Given the description of an element on the screen output the (x, y) to click on. 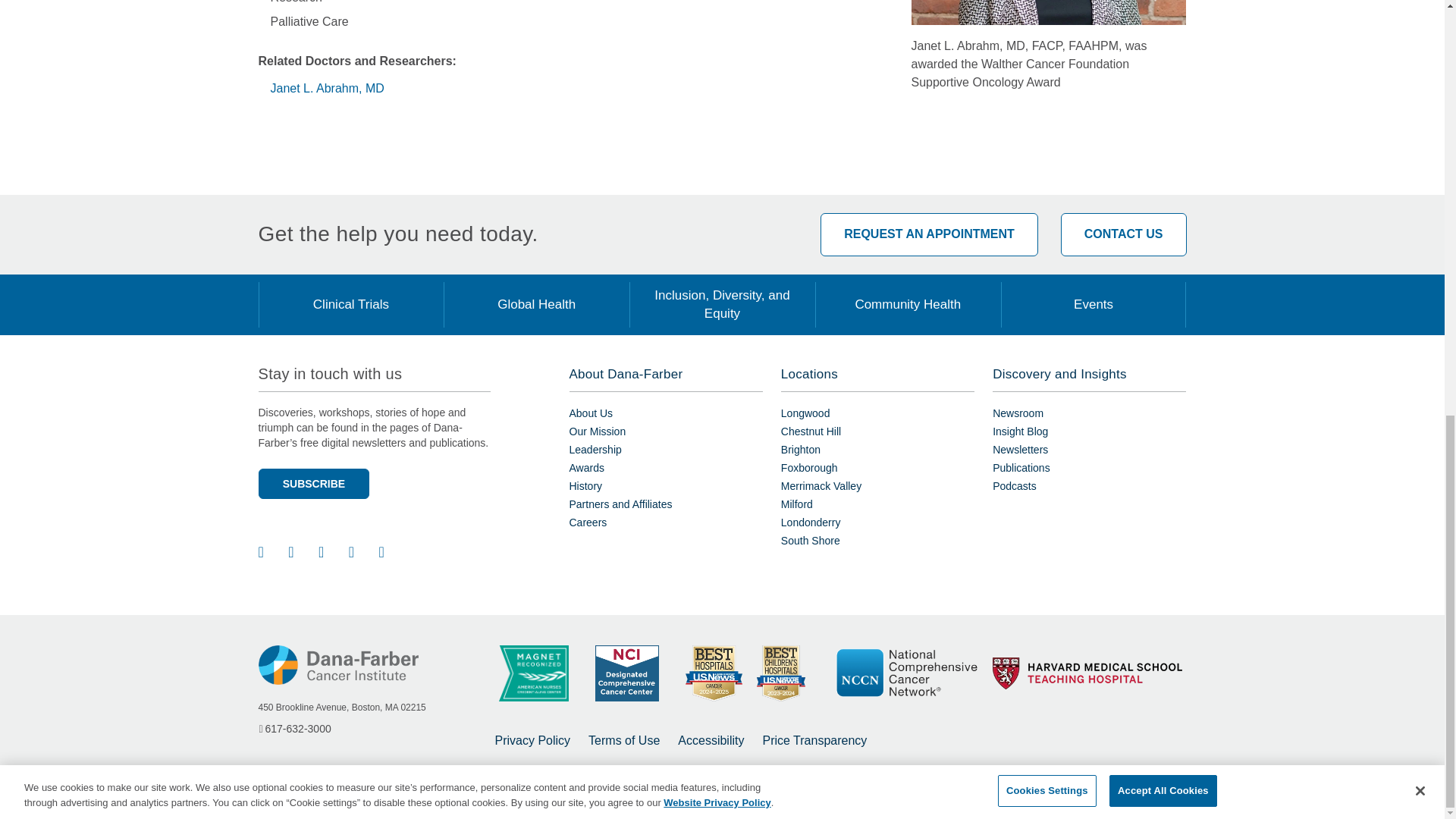
Dana-Farber Website Accessibility Statement (711, 741)
Dana-Farber Informational Website Privacy Policy (532, 741)
These Terms of Use govern your use of our Sites. (623, 741)
